Given the description of an element on the screen output the (x, y) to click on. 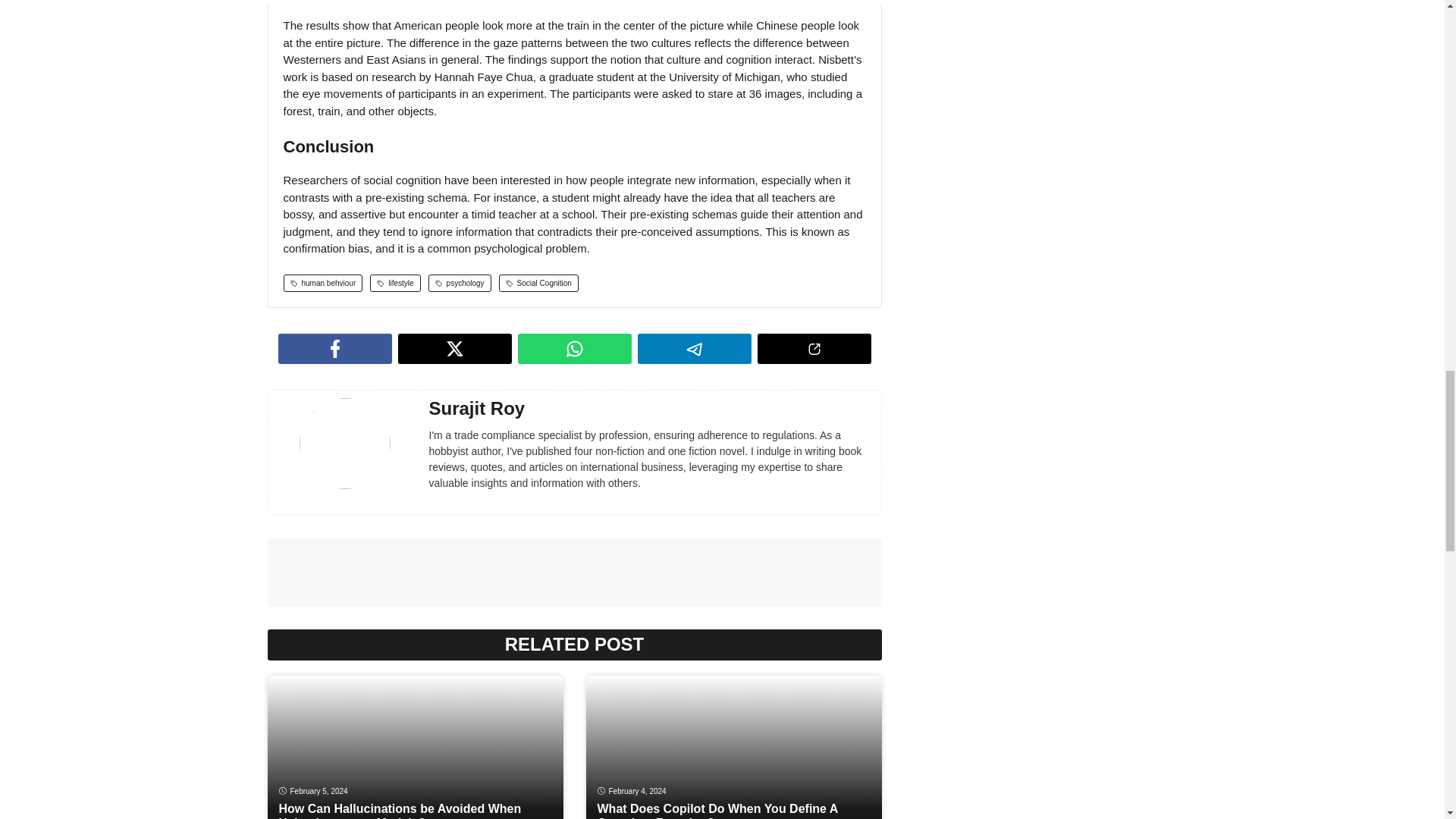
Social Cognition (538, 282)
psychology (460, 282)
lifestyle (394, 282)
Surajit Roy (477, 408)
human behviour (322, 282)
